Given the description of an element on the screen output the (x, y) to click on. 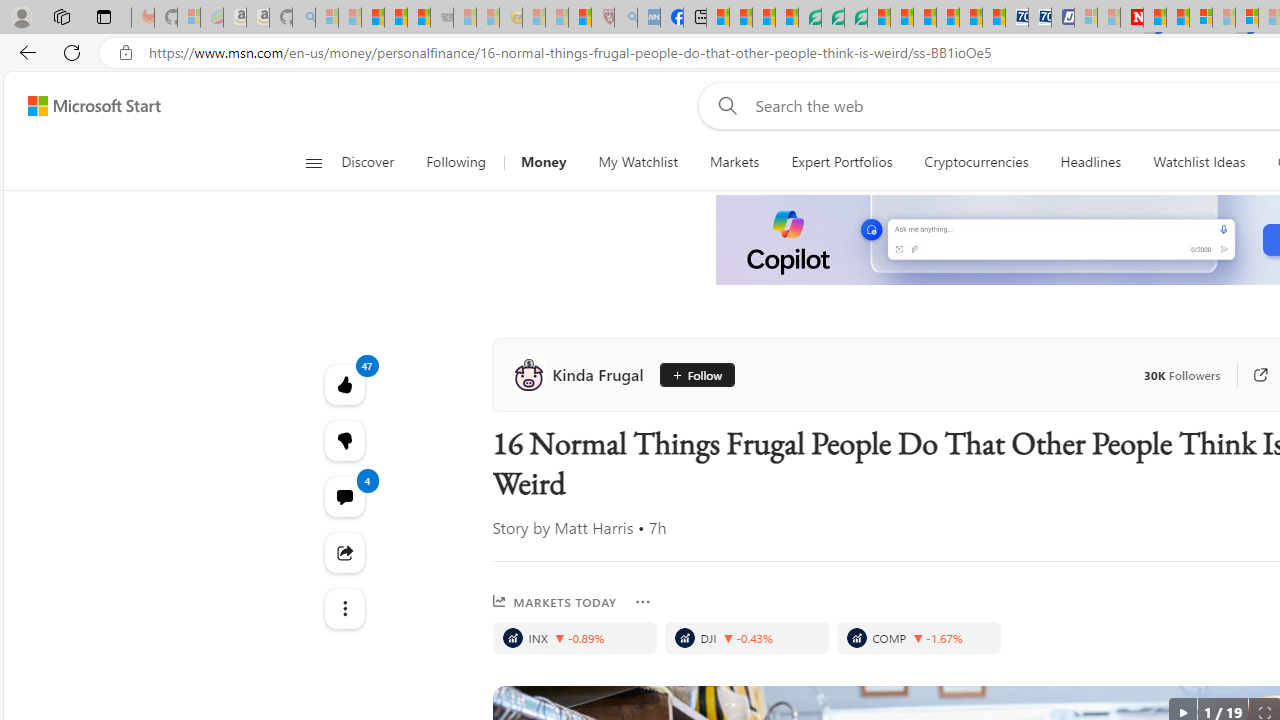
Expert Portfolios (841, 162)
Watchlist Ideas (1199, 162)
Go to publisher's site (1250, 374)
Cheap Car Rentals - Save70.com (1016, 17)
More Options (642, 601)
Dislike (343, 440)
Headlines (1090, 162)
My Watchlist (637, 162)
47 (343, 440)
